Given the description of an element on the screen output the (x, y) to click on. 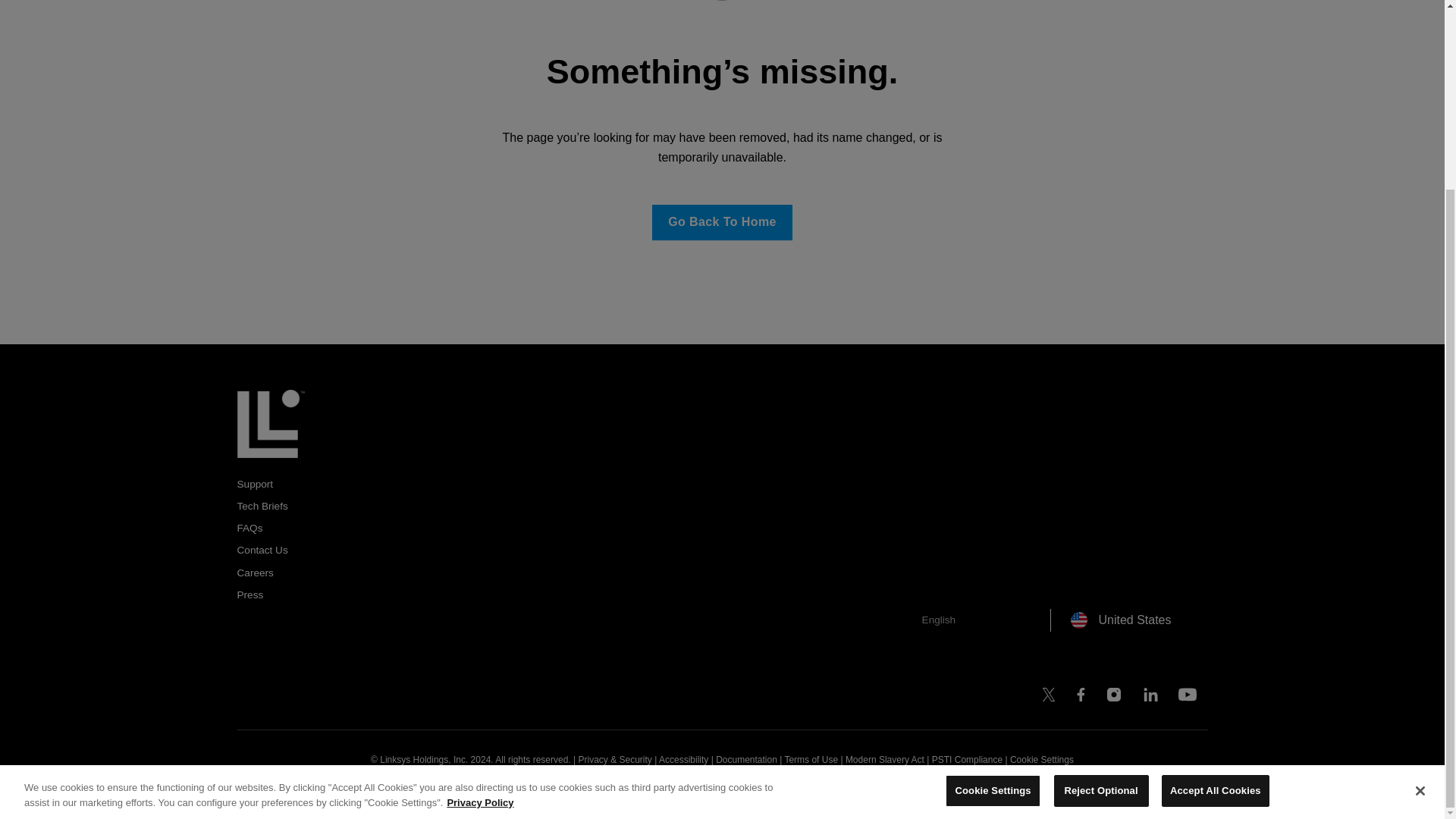
Go Back To Home (722, 222)
Linksys Shopify on YouTube (1186, 697)
Linksys Shopify on Instagram (1112, 697)
